Given the description of an element on the screen output the (x, y) to click on. 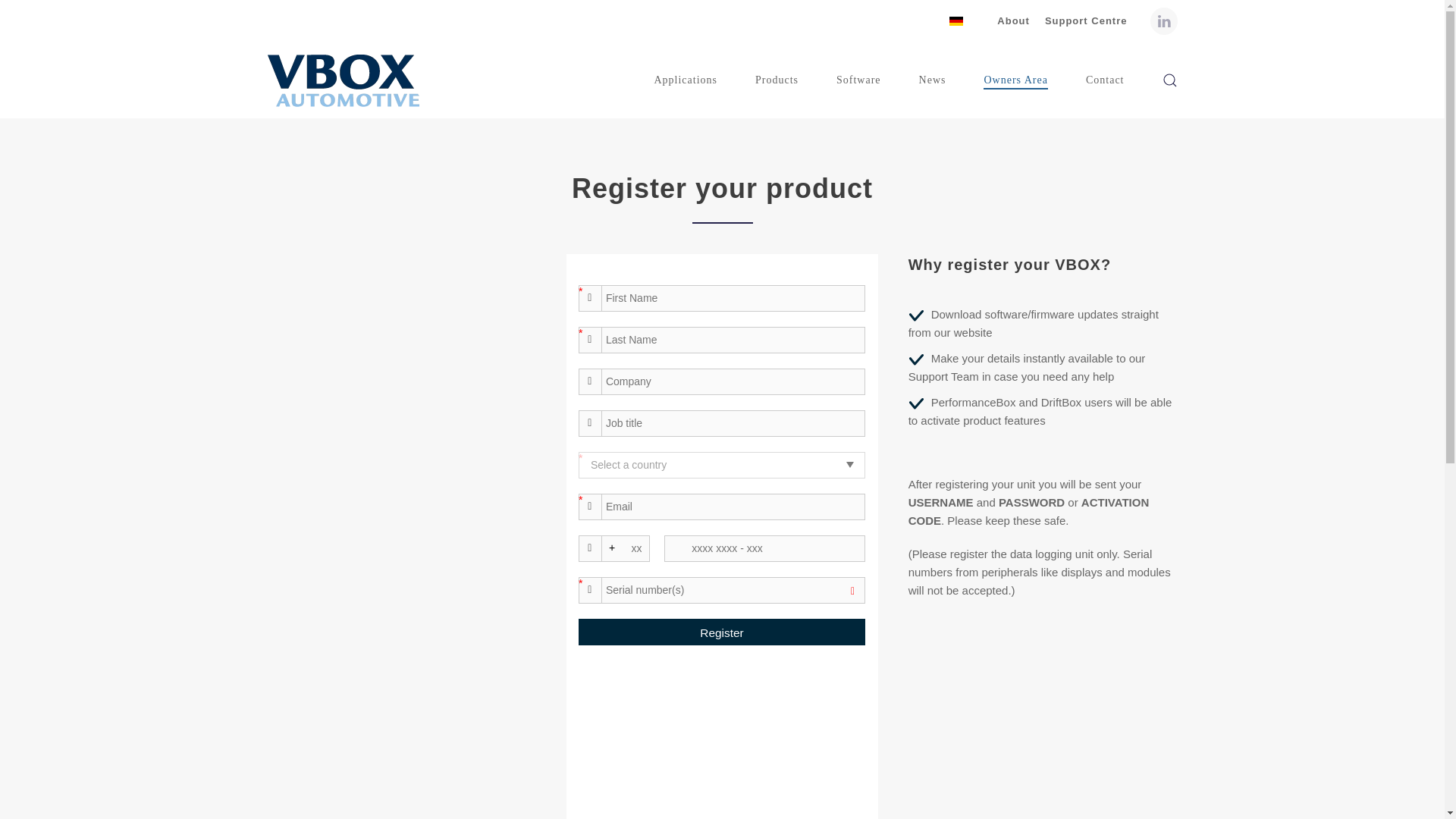
Deutsch (955, 20)
About (1013, 21)
Support Centre (1085, 21)
